Given the description of an element on the screen output the (x, y) to click on. 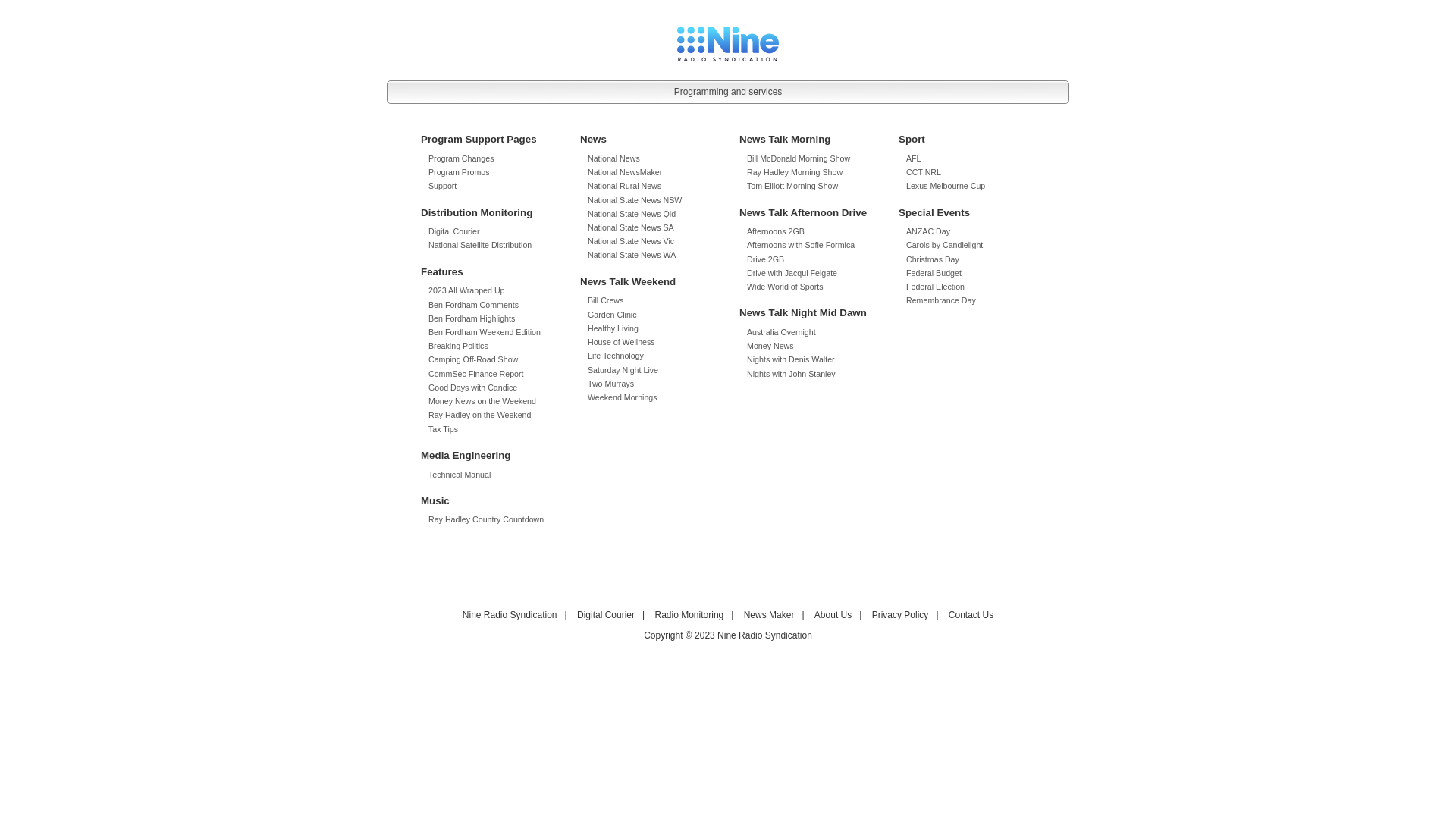
National State News WA Element type: text (631, 254)
Weekend Mornings Element type: text (622, 396)
Ben Fordham Highlights Element type: text (471, 318)
Healthy Living Element type: text (612, 327)
National NewsMaker Element type: text (624, 171)
About Us Element type: text (832, 614)
CCT NRL Element type: text (923, 171)
Digital Courier Element type: text (454, 230)
Nights with John Stanley Element type: text (790, 373)
Wide World of Sports Element type: text (784, 286)
Afternoons with Sofie Formica Element type: text (800, 244)
Carols by Candlelight Element type: text (944, 244)
Ben Fordham Weekend Edition Element type: text (484, 331)
Remembrance Day Element type: text (940, 299)
Support Element type: text (442, 185)
2023 All Wrapped Up Element type: text (466, 289)
Drive with Jacqui Felgate Element type: text (791, 272)
CommSec Finance Report Element type: text (476, 373)
Privacy Policy Element type: text (900, 614)
Lexus Melbourne Cup Element type: text (945, 185)
Saturday Night Live Element type: text (622, 369)
News Maker Element type: text (768, 614)
Ray Hadley Country Countdown Element type: text (485, 519)
National State News Vic Element type: text (630, 240)
Technical Manual Element type: text (459, 474)
Garden Clinic Element type: text (612, 314)
National State News NSW Element type: text (634, 199)
Money News Element type: text (769, 345)
Ray Hadley Morning Show Element type: text (794, 171)
National State News Qld Element type: text (631, 213)
Ben Fordham Comments Element type: text (473, 304)
National State News SA Element type: text (630, 227)
Bill Crews Element type: text (605, 299)
Digital Courier Element type: text (605, 614)
Tax Tips Element type: text (443, 428)
Ray Hadley on the Weekend Element type: text (479, 414)
National Rural News Element type: text (624, 185)
National Satellite Distribution Element type: text (479, 244)
AFL Element type: text (913, 158)
Good Days with Candice Element type: text (472, 387)
Two Murrays Element type: text (610, 383)
Money News on the Weekend Element type: text (482, 400)
Life Technology Element type: text (615, 355)
House of Wellness Element type: text (621, 341)
Australia Overnight Element type: text (780, 331)
Drive 2GB Element type: text (765, 258)
Nine Radio Syndication Element type: text (509, 614)
ANZAC Day Element type: text (928, 230)
Camping Off-Road Show Element type: text (472, 359)
Contact Us Element type: text (970, 614)
Federal Election Element type: text (935, 286)
Bill McDonald Morning Show Element type: text (798, 158)
Christmas Day Element type: text (932, 258)
Federal Budget Element type: text (933, 272)
National News Element type: text (613, 158)
Tom Elliott Morning Show Element type: text (791, 185)
Breaking Politics Element type: text (458, 345)
Afternoons 2GB Element type: text (775, 230)
Program Promos Element type: text (458, 171)
Program Changes Element type: text (460, 158)
Radio Monitoring Element type: text (689, 614)
Nights with Denis Walter Element type: text (790, 359)
Click here to return to our home page. Element type: hover (727, 42)
